Given the description of an element on the screen output the (x, y) to click on. 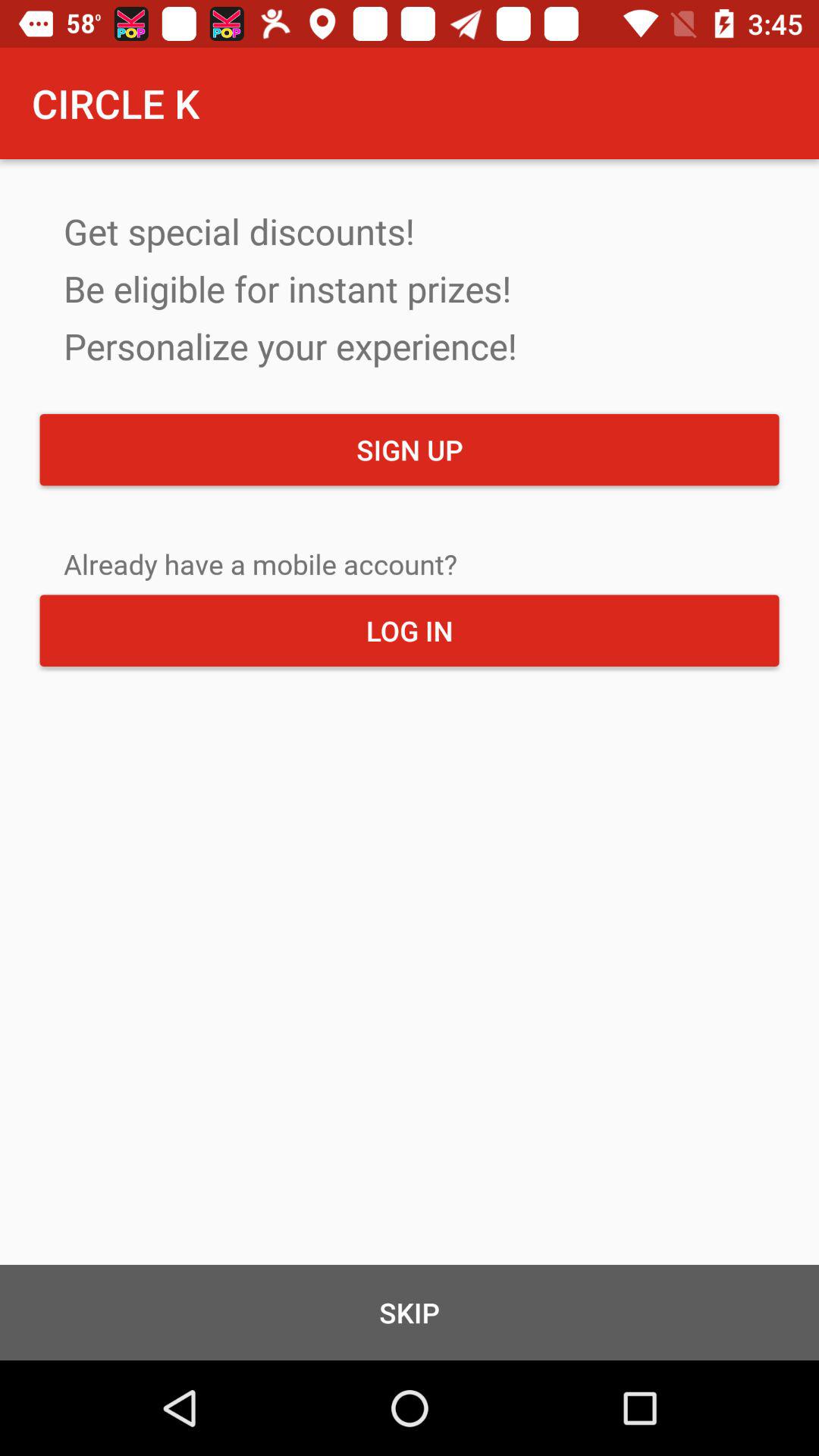
tap log in (409, 630)
